Given the description of an element on the screen output the (x, y) to click on. 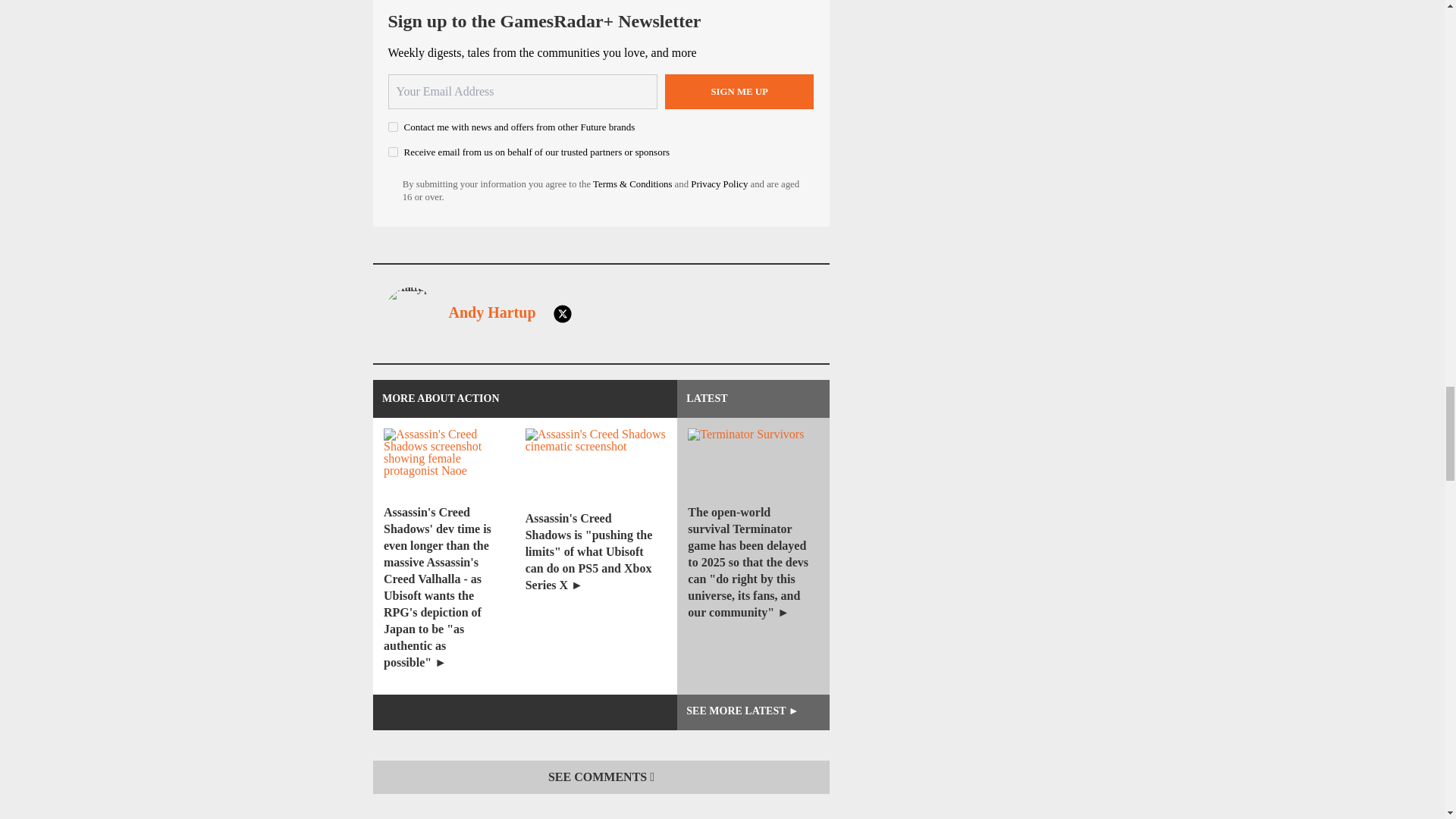
on (392, 126)
Sign me up (739, 91)
on (392, 152)
